Given the description of an element on the screen output the (x, y) to click on. 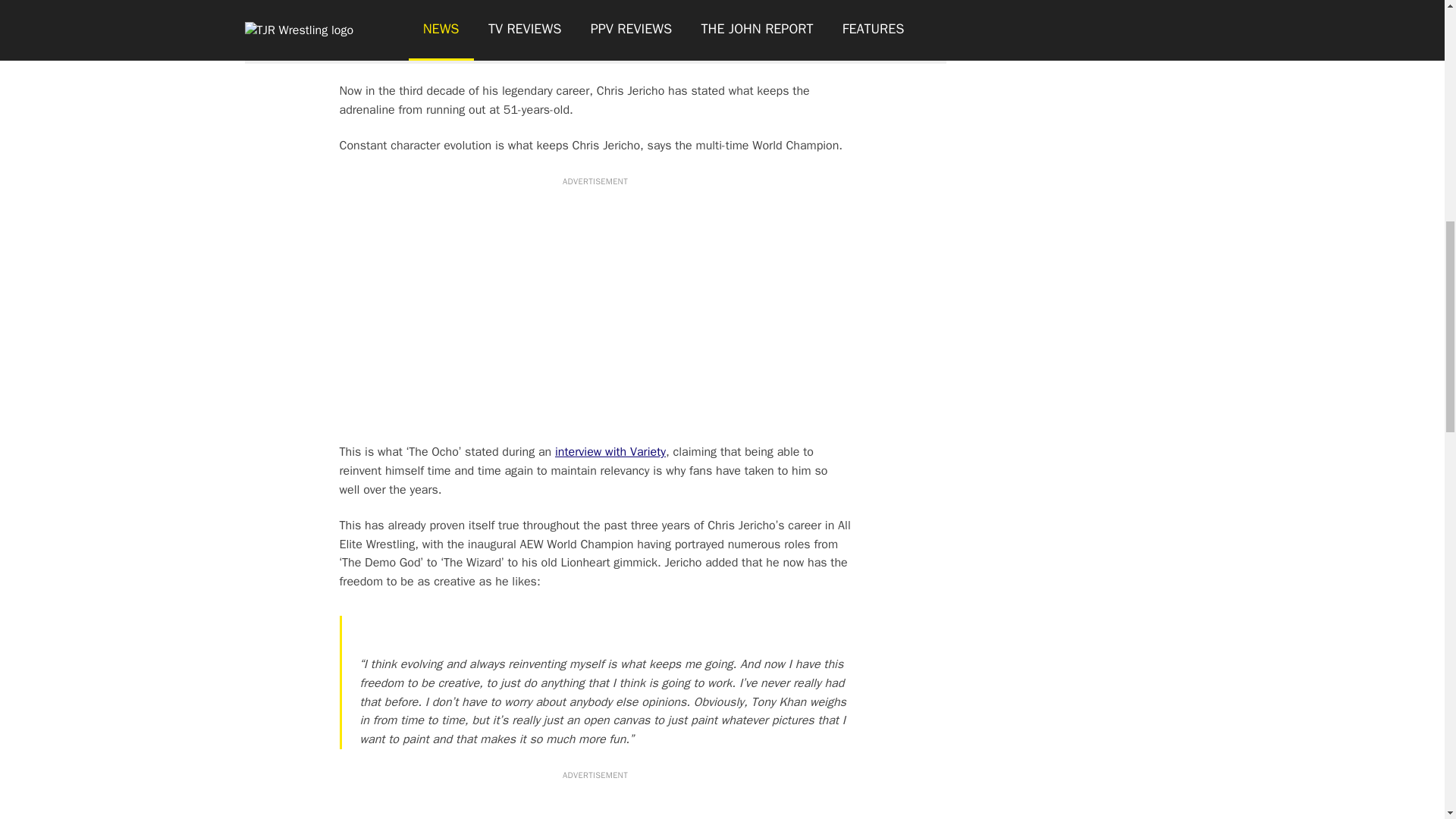
interview with Variety (609, 451)
